Given the description of an element on the screen output the (x, y) to click on. 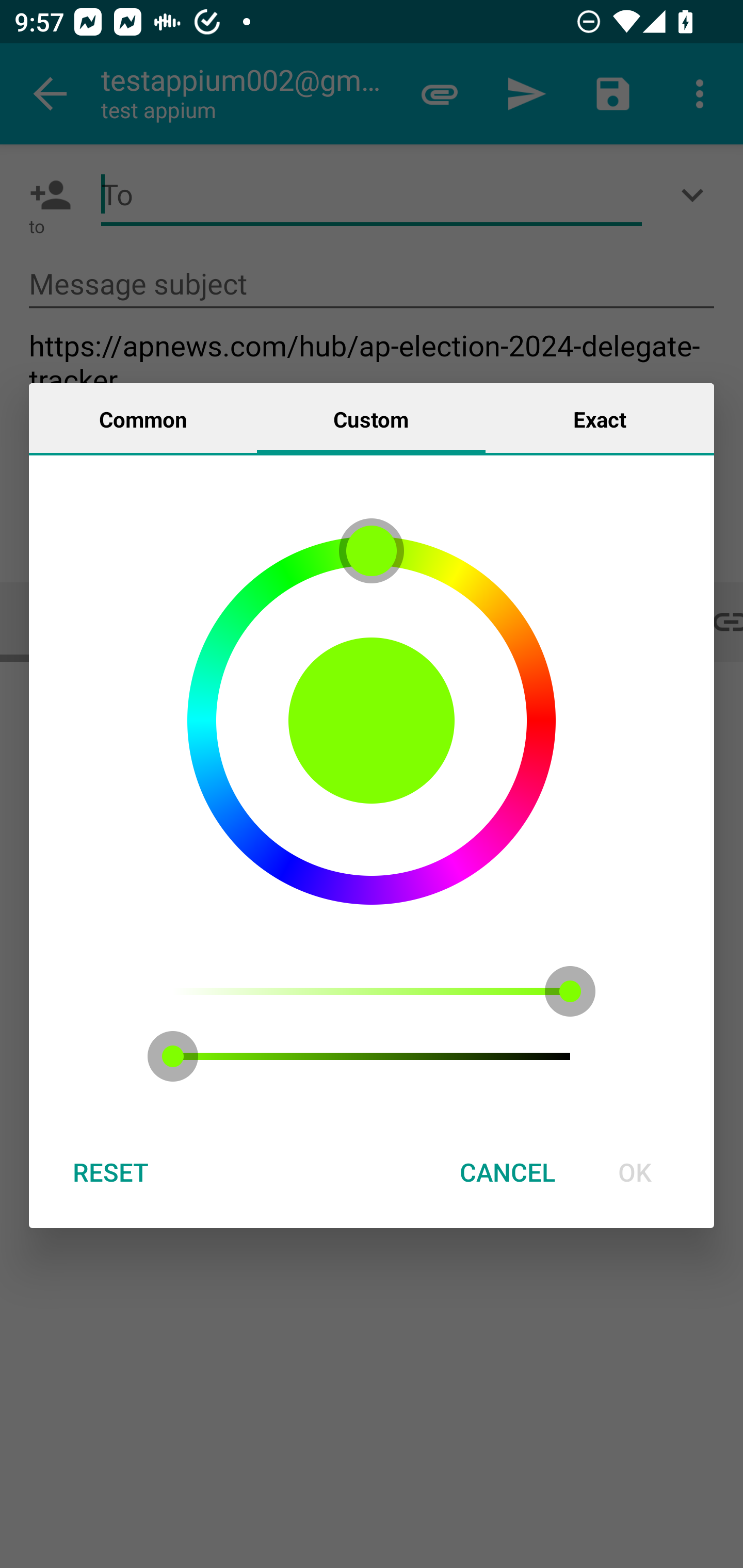
Common (142, 418)
Custom (371, 418)
Exact (599, 418)
RESET (110, 1171)
CANCEL (507, 1171)
OK (634, 1171)
